Given the description of an element on the screen output the (x, y) to click on. 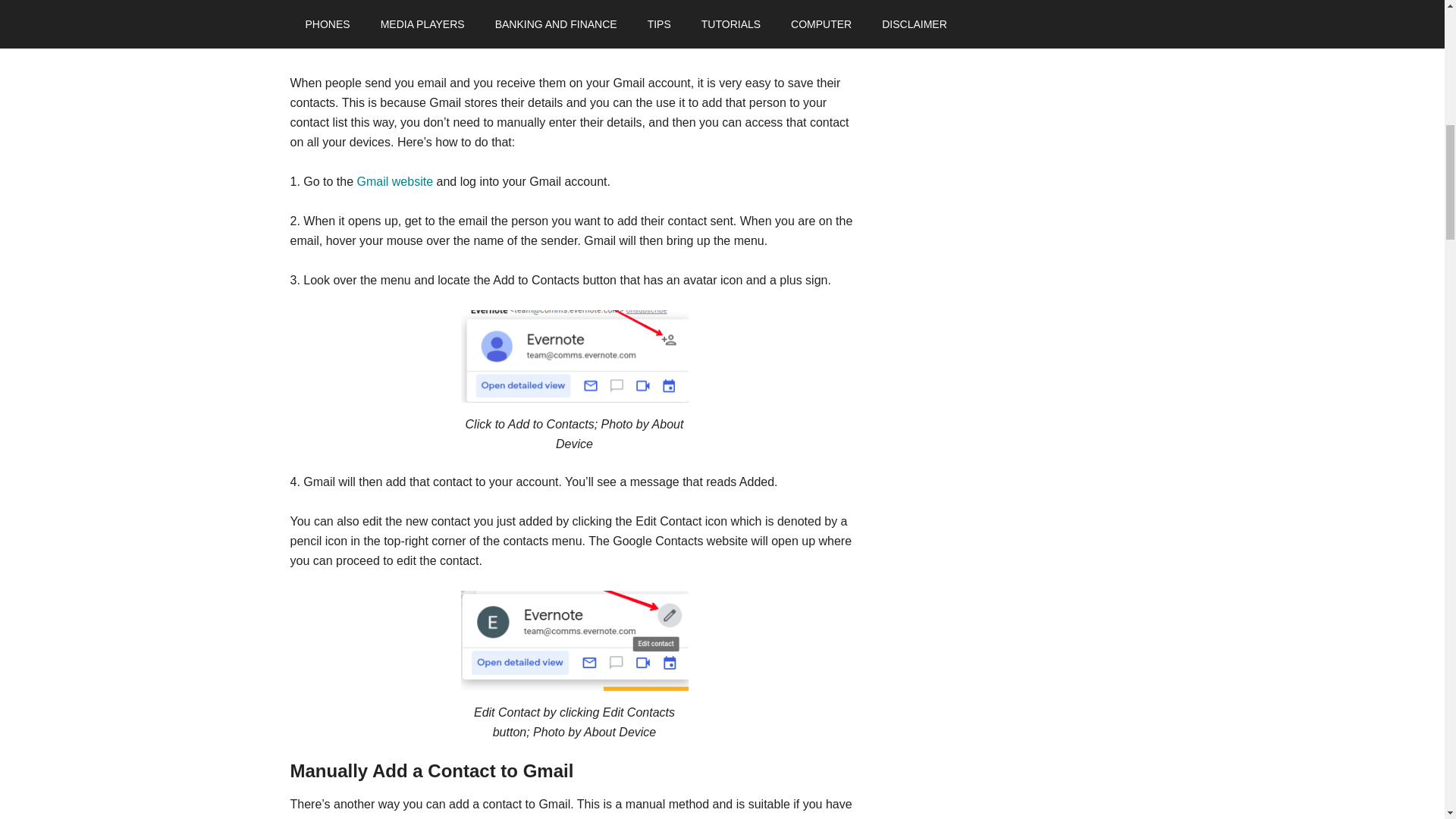
Gmail website (394, 181)
Advertisement (574, 33)
